Given the description of an element on the screen output the (x, y) to click on. 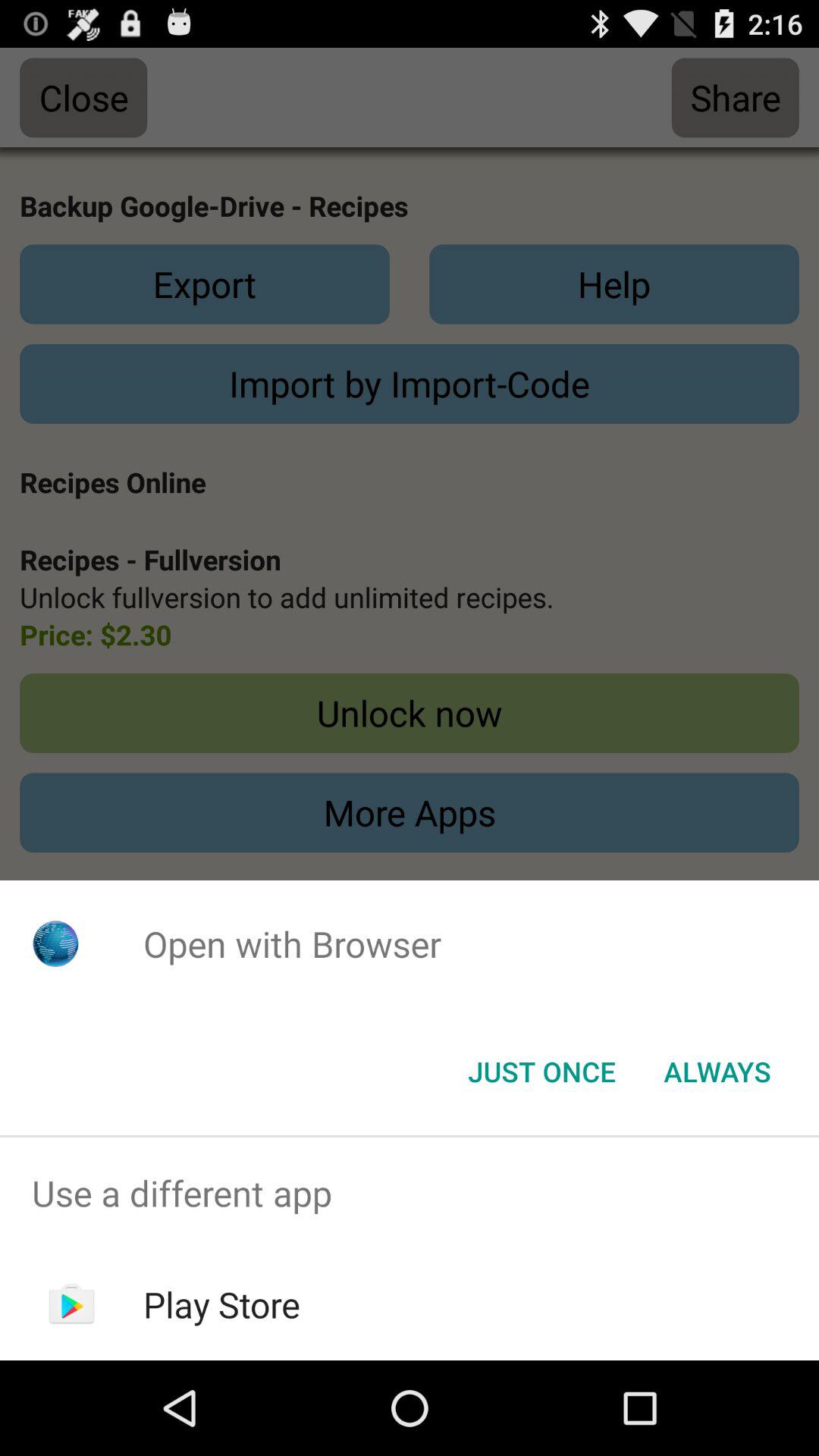
open the item below use a different (221, 1304)
